Given the description of an element on the screen output the (x, y) to click on. 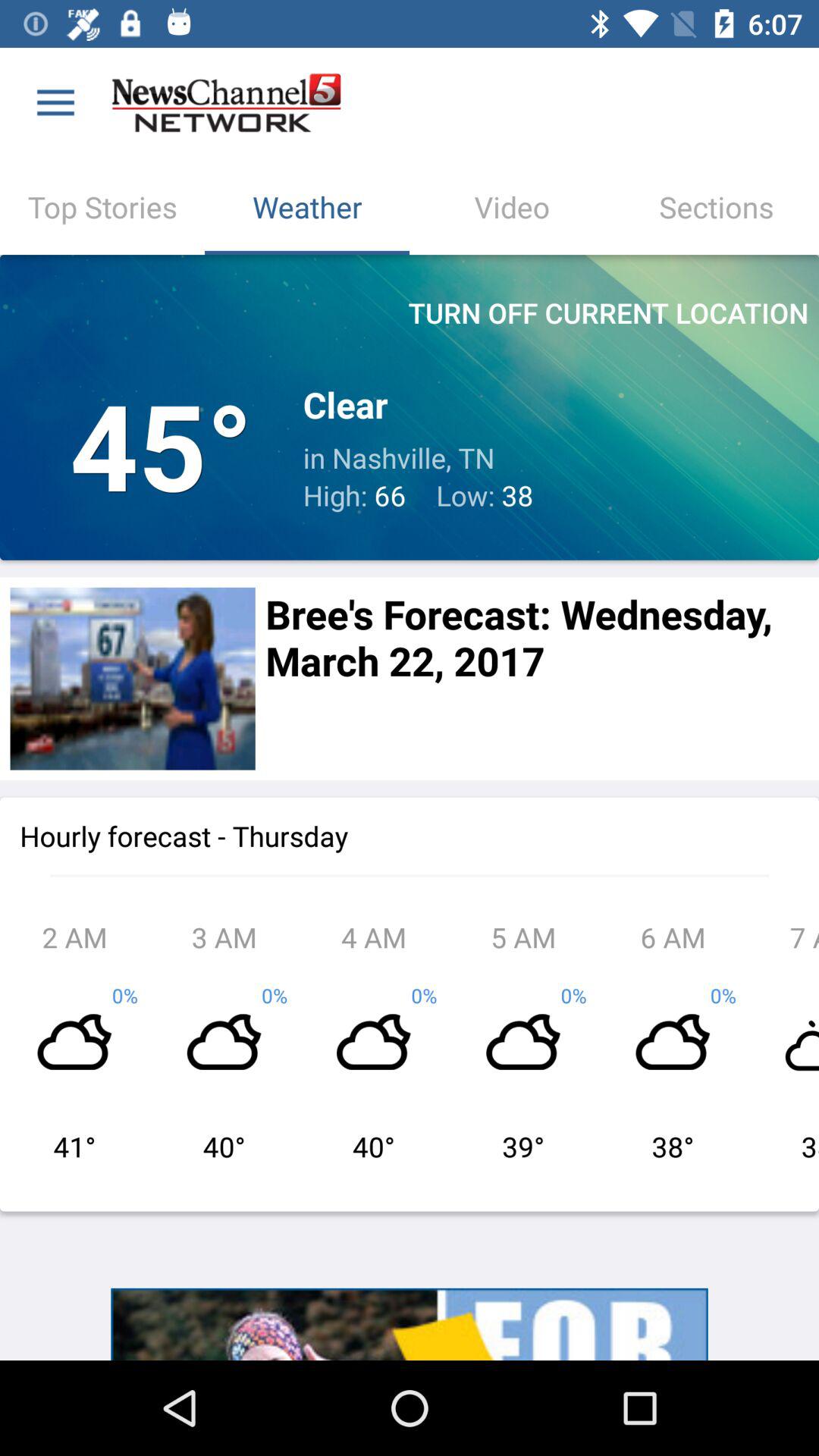
share the article (132, 678)
